Given the description of an element on the screen output the (x, y) to click on. 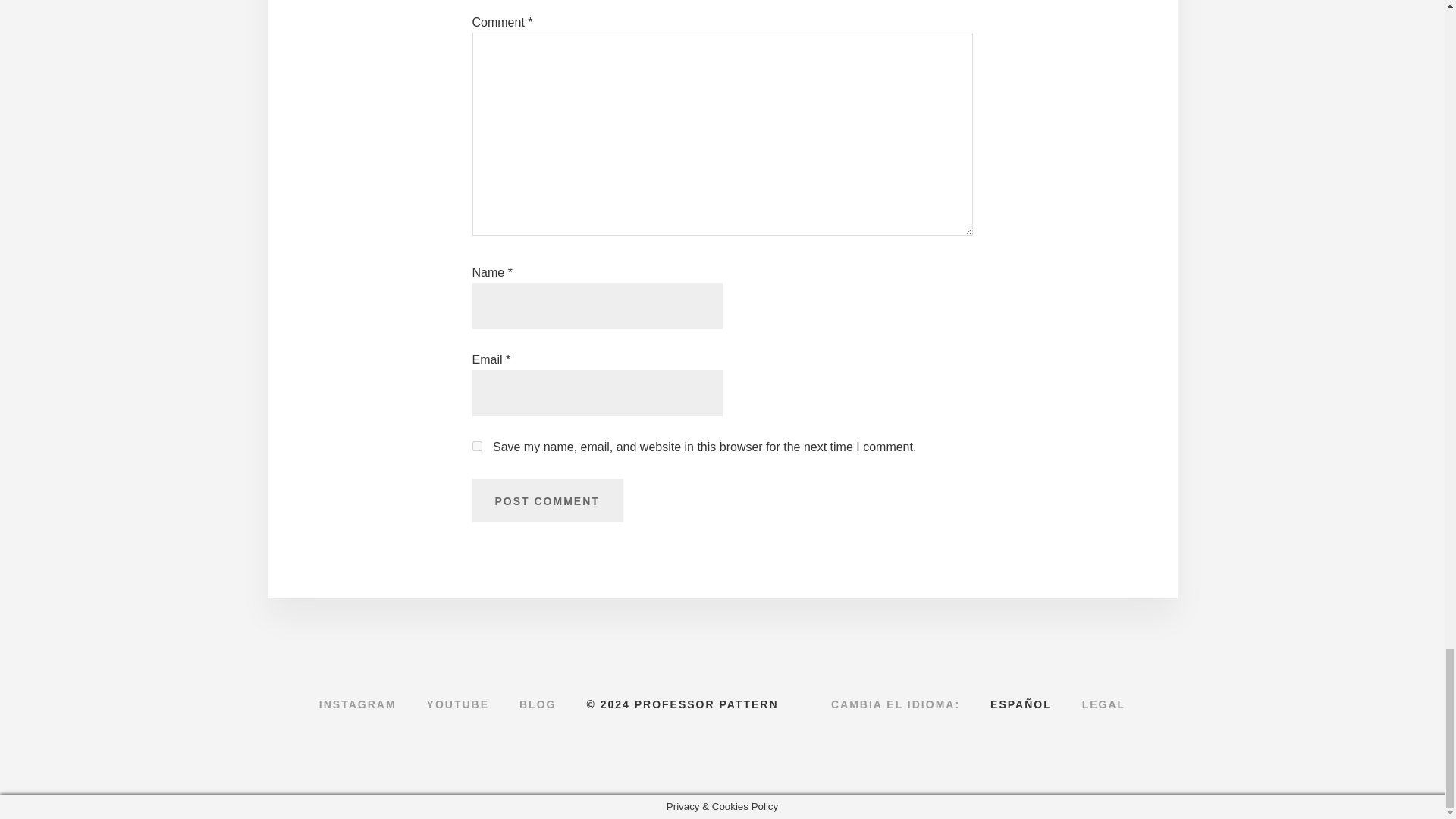
INSTAGRAM (358, 703)
yes (476, 446)
BLOG (536, 703)
CAMBIA EL IDIOMA: (895, 703)
Post Comment (546, 500)
LEGAL (1103, 703)
YOUTUBE (457, 703)
Post Comment (546, 500)
